Given the description of an element on the screen output the (x, y) to click on. 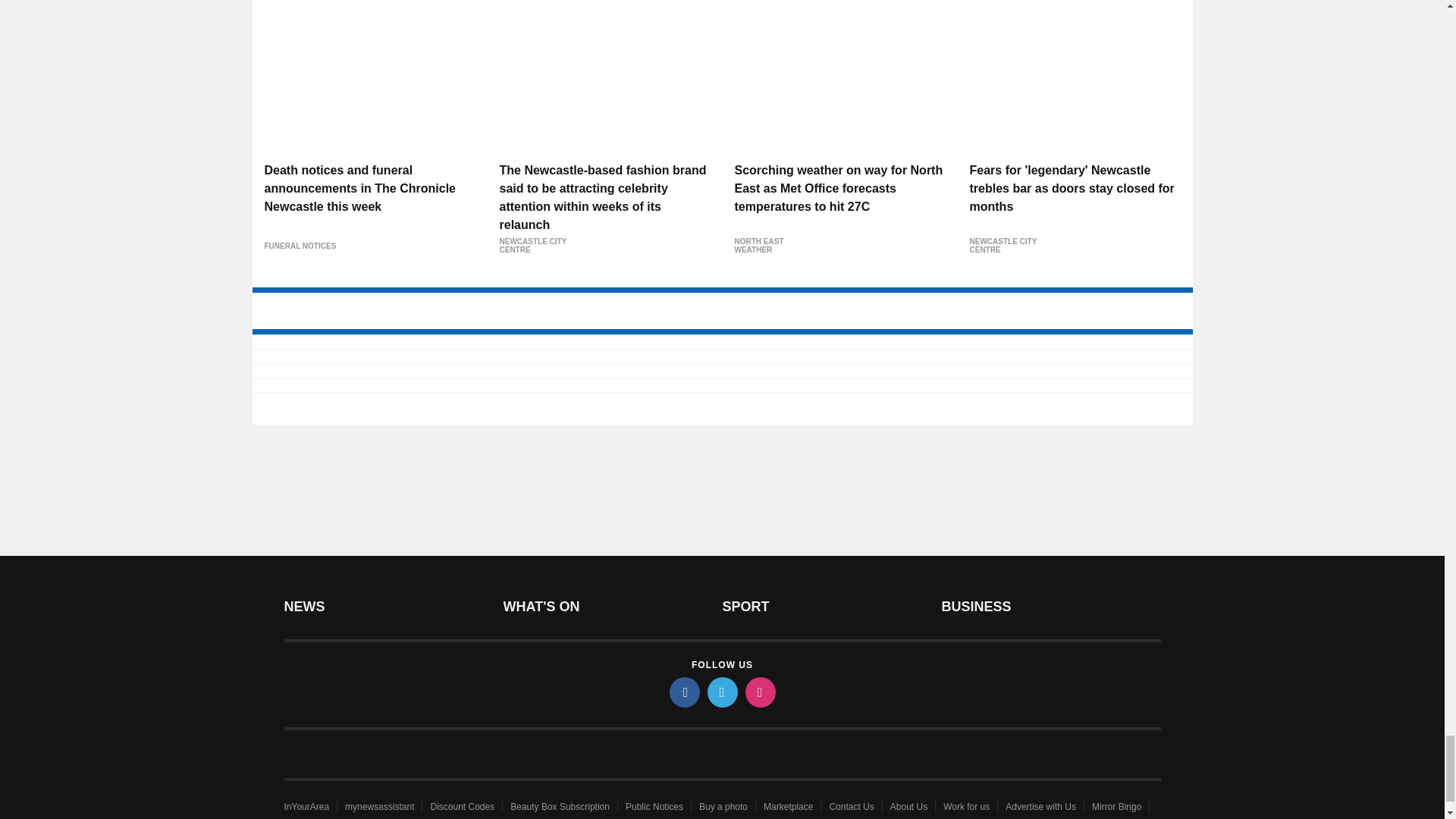
twitter (721, 692)
facebook (683, 692)
instagram (759, 692)
